Given the description of an element on the screen output the (x, y) to click on. 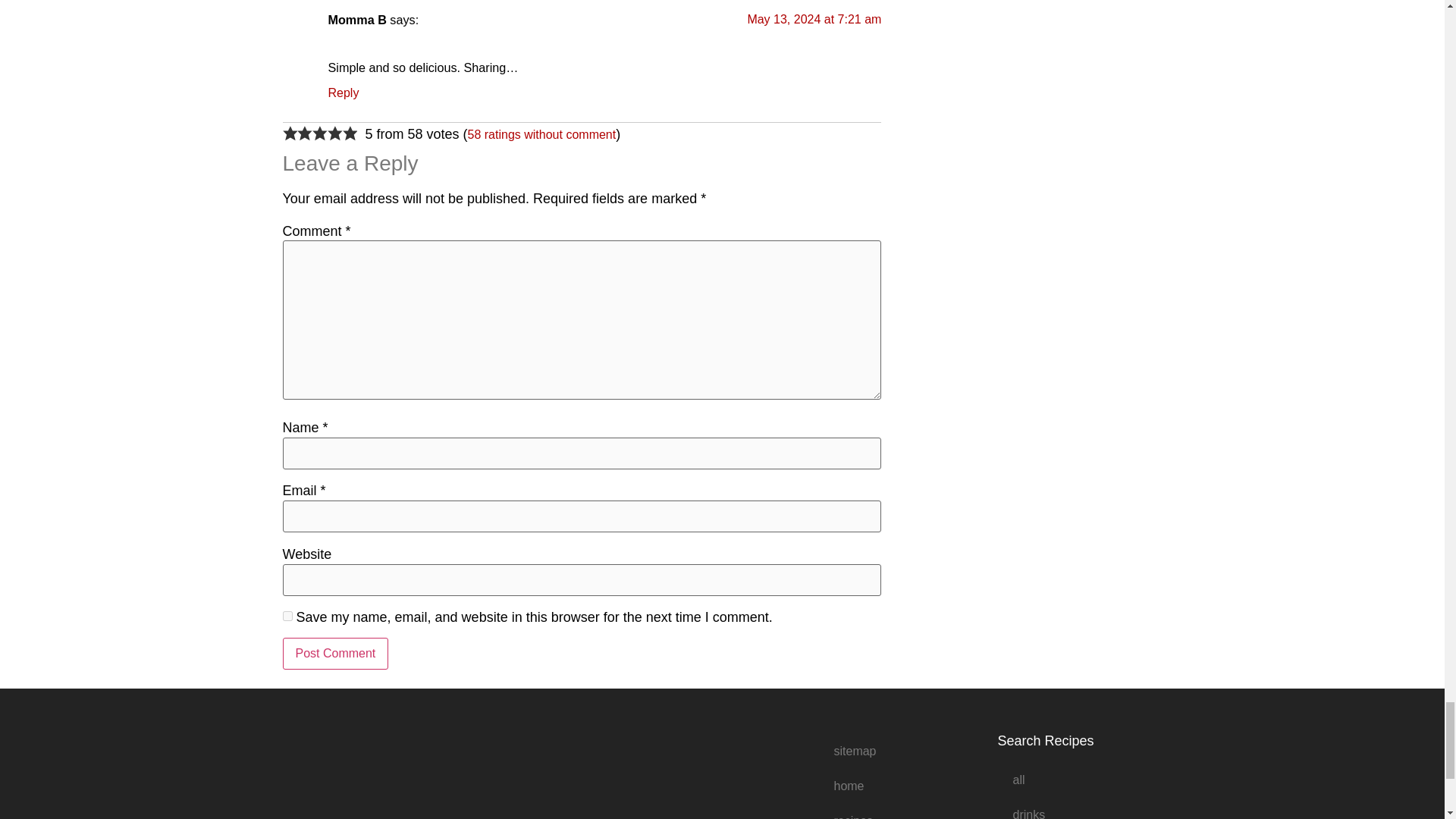
yes (287, 615)
Post Comment (335, 653)
